Given the description of an element on the screen output the (x, y) to click on. 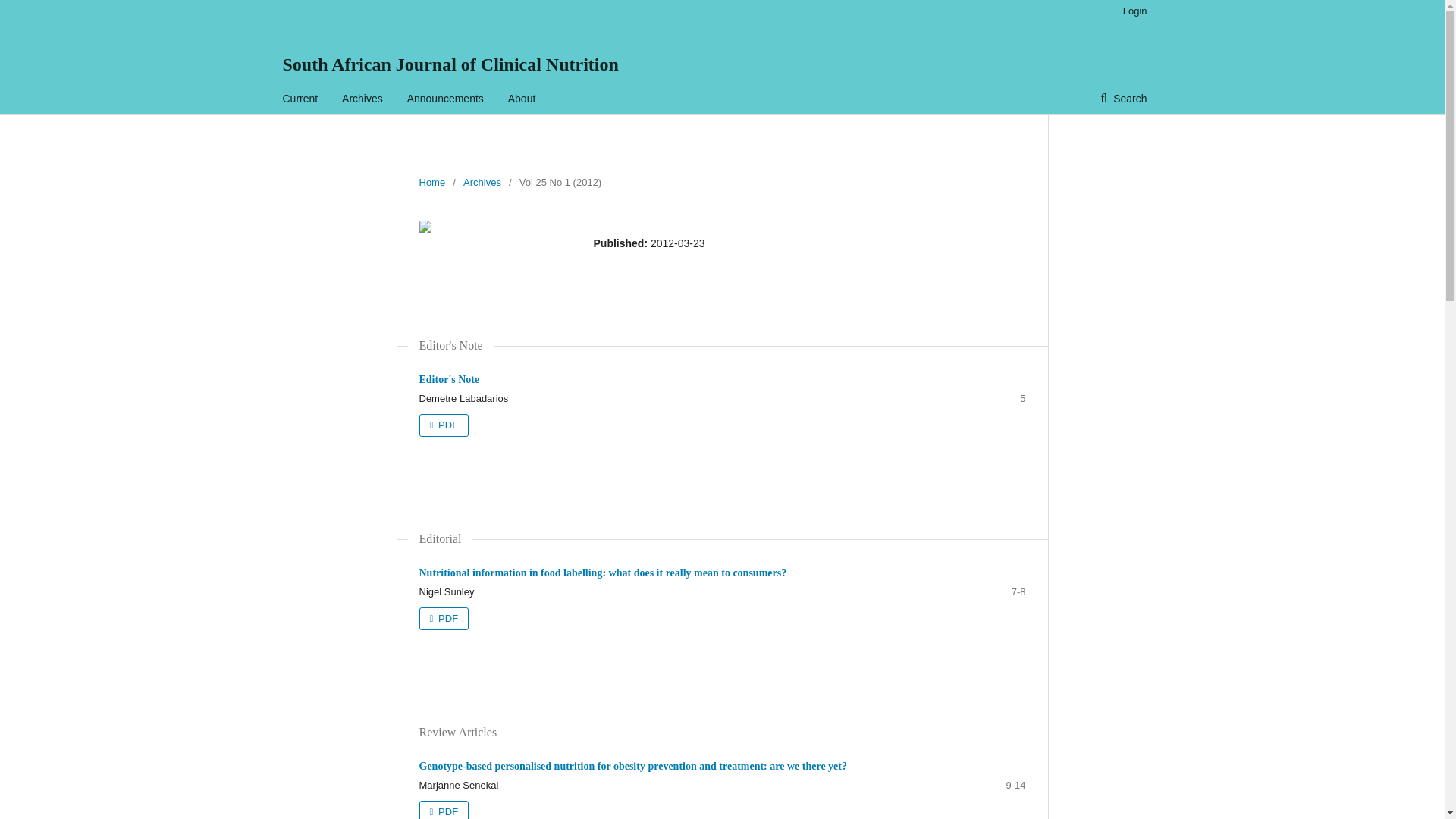
South African Journal of Clinical Nutrition (449, 64)
Archives (362, 98)
Announcements (445, 98)
PDF (443, 618)
PDF (443, 809)
About (521, 98)
Current (299, 98)
Editor's Note (449, 378)
